Given the description of an element on the screen output the (x, y) to click on. 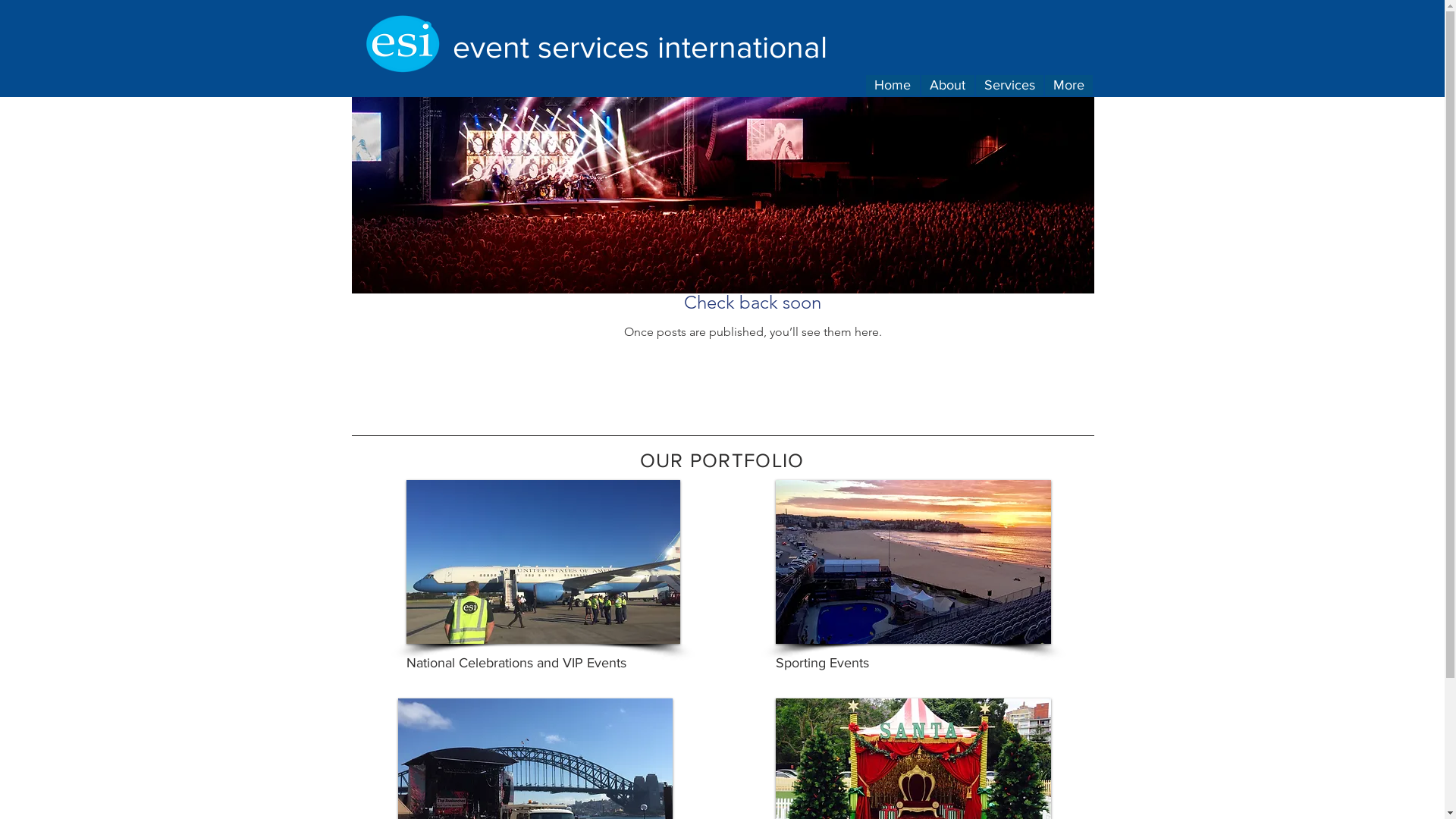
event services international Element type: text (638, 46)
esi Element type: hover (401, 46)
Services Element type: text (1008, 85)
Home Element type: text (892, 85)
About Element type: text (946, 85)
